Given the description of an element on the screen output the (x, y) to click on. 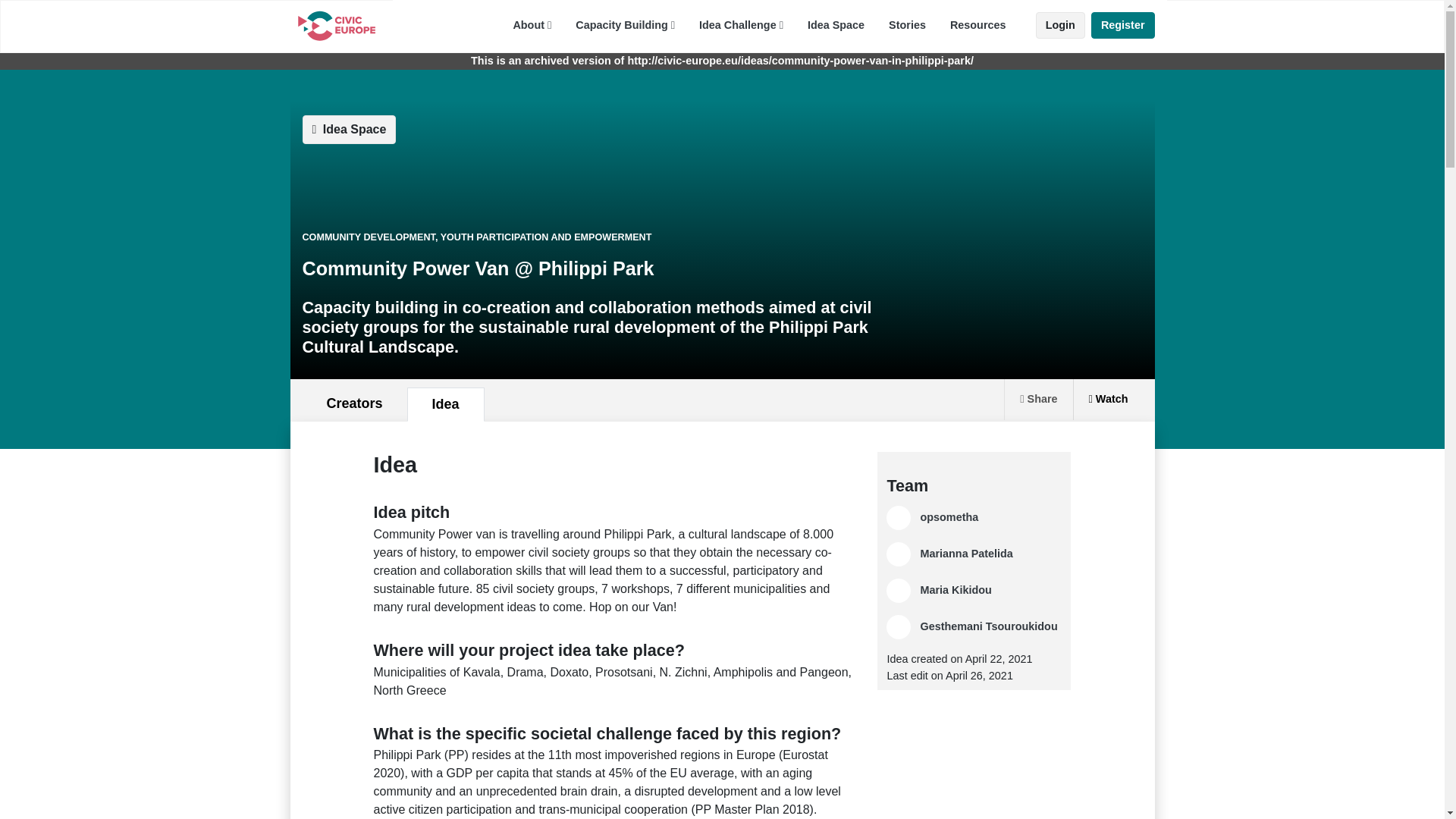
opsometha (949, 517)
Creators (353, 403)
Maria Kikidou (955, 589)
About (531, 22)
Watch (1107, 399)
Register (1122, 25)
Marianna Patelida (965, 553)
Share (1037, 399)
Resources (977, 24)
Idea Space (835, 24)
